Given the description of an element on the screen output the (x, y) to click on. 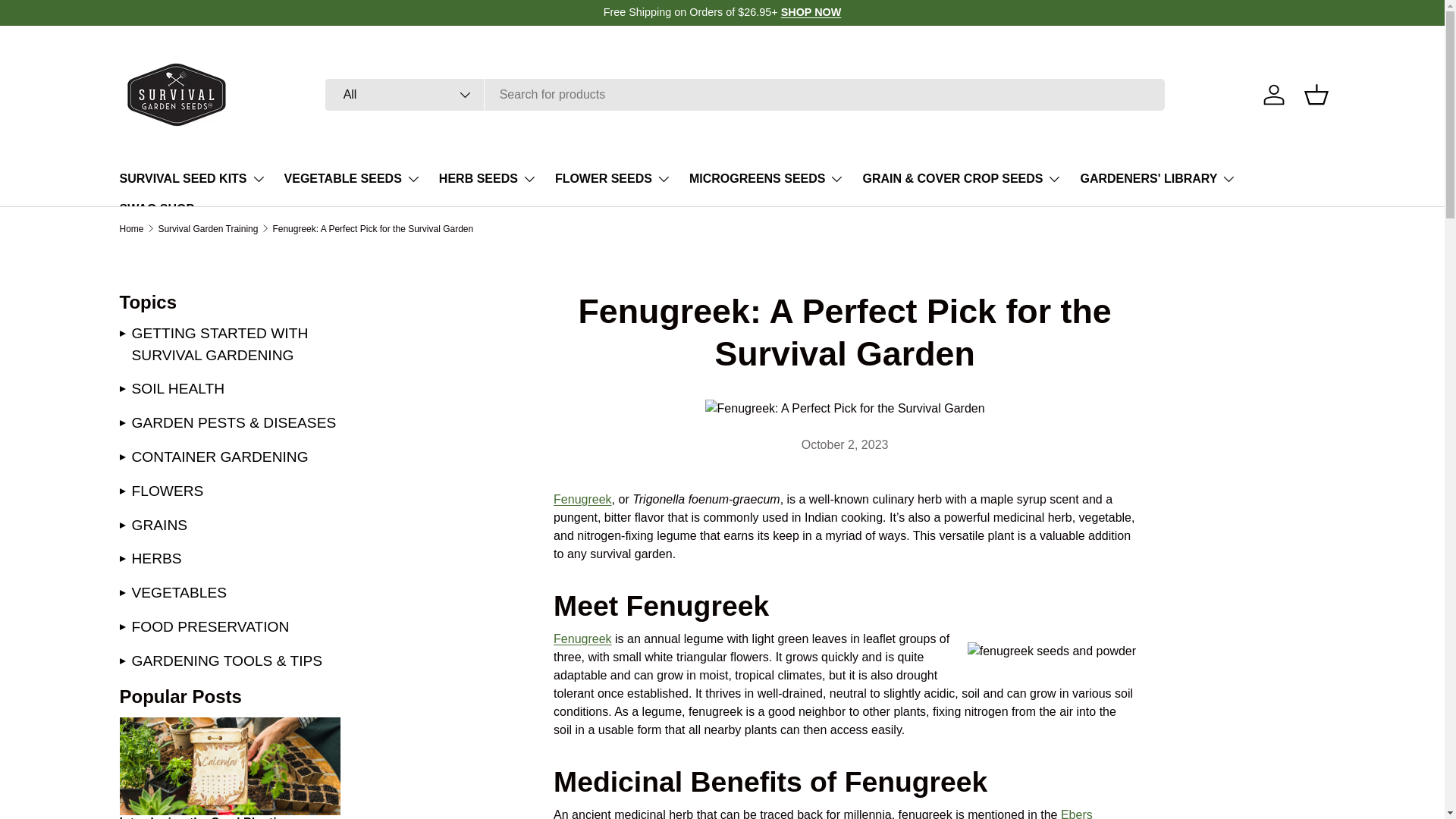
Ebers Papyrus (823, 813)
Basket (1316, 94)
Log in (1273, 94)
Skip to content (68, 21)
Fenugreek Seeds (582, 638)
VEGETABLE SEEDS (351, 178)
Fenugreek seeds for growing (582, 499)
SHOP NOW (810, 11)
SURVIVAL SEED KITS (192, 178)
Survival Seed Kits (810, 11)
